Given the description of an element on the screen output the (x, y) to click on. 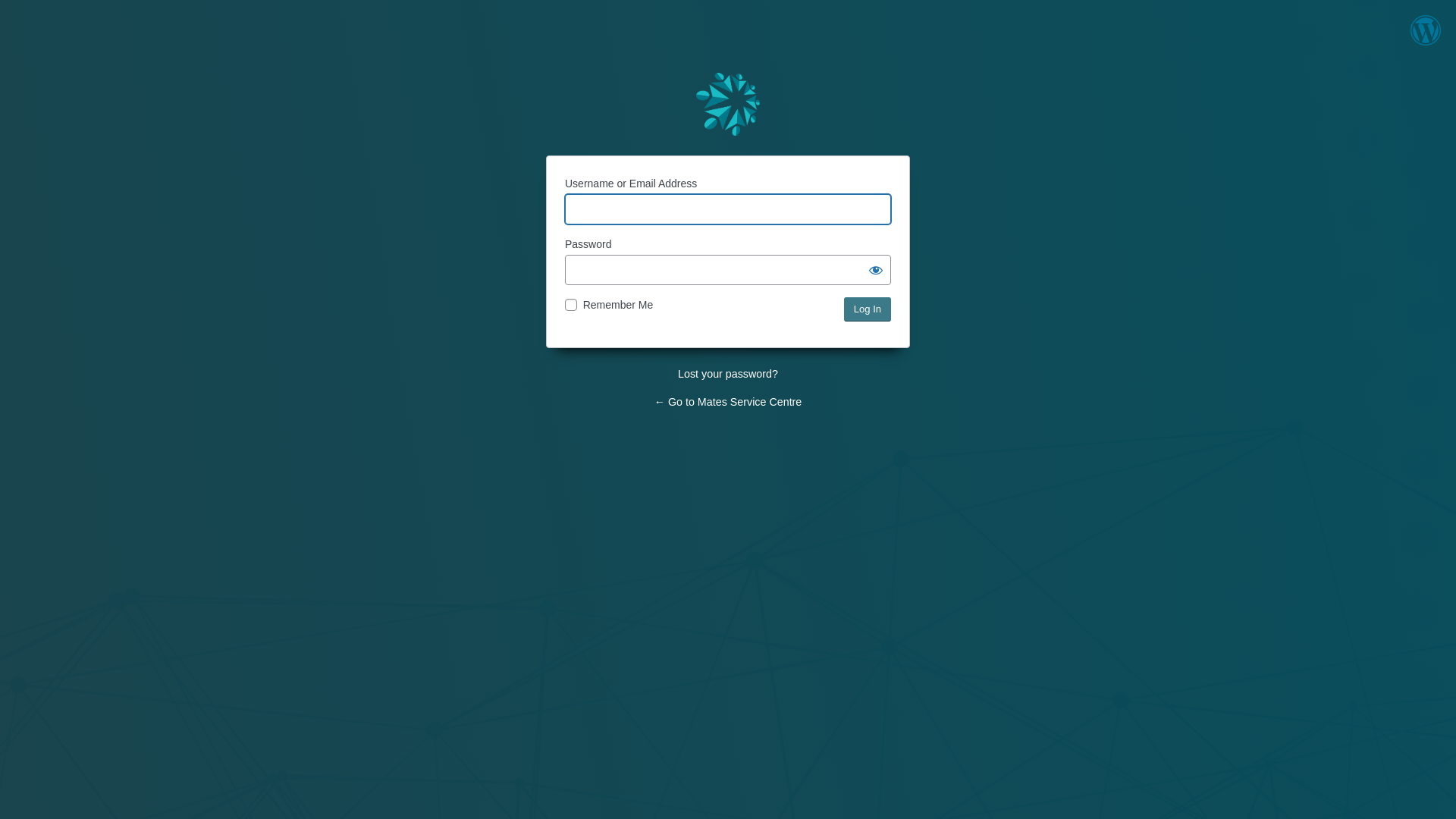
Powered by WordPress Element type: text (727, 104)
Powered by Wordpress Element type: hover (1425, 41)
Lost your password? Element type: text (727, 373)
Log In Element type: text (867, 309)
